Given the description of an element on the screen output the (x, y) to click on. 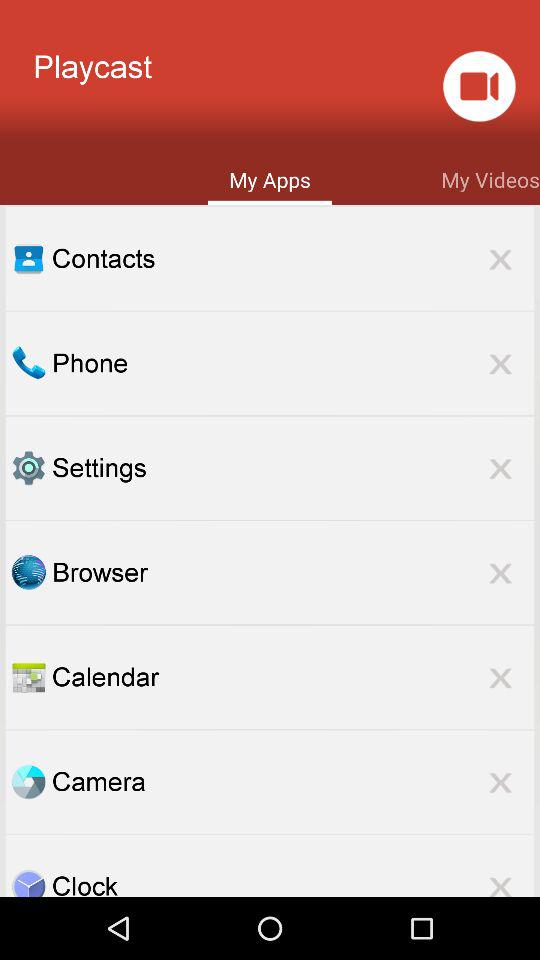
select the settings item (293, 467)
